Given the description of an element on the screen output the (x, y) to click on. 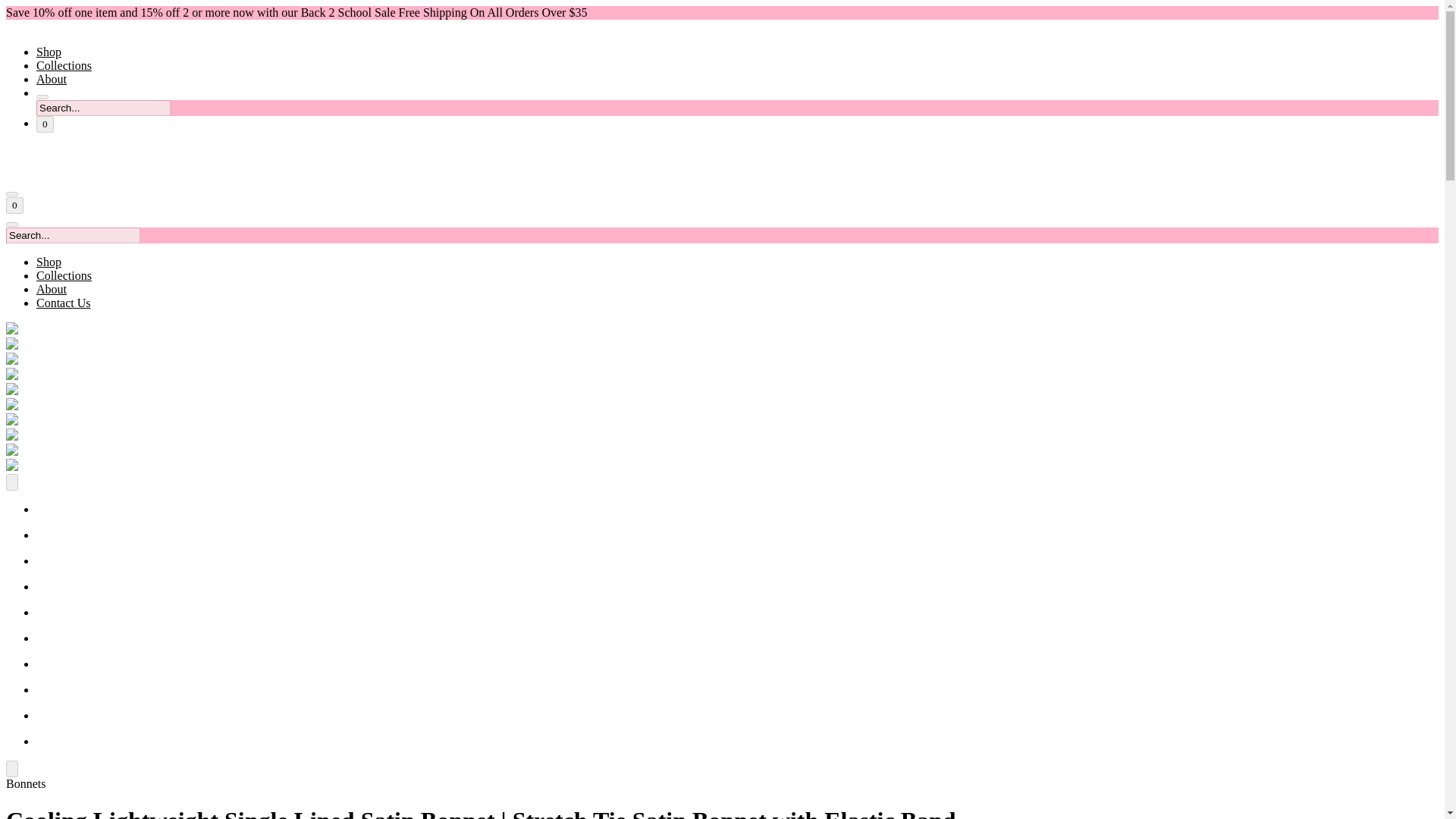
About (51, 78)
0 (44, 124)
About (51, 288)
Collections (63, 275)
Shop (48, 51)
Contact Us (63, 302)
Shop (48, 261)
0 (14, 205)
Collections (63, 65)
